Given the description of an element on the screen output the (x, y) to click on. 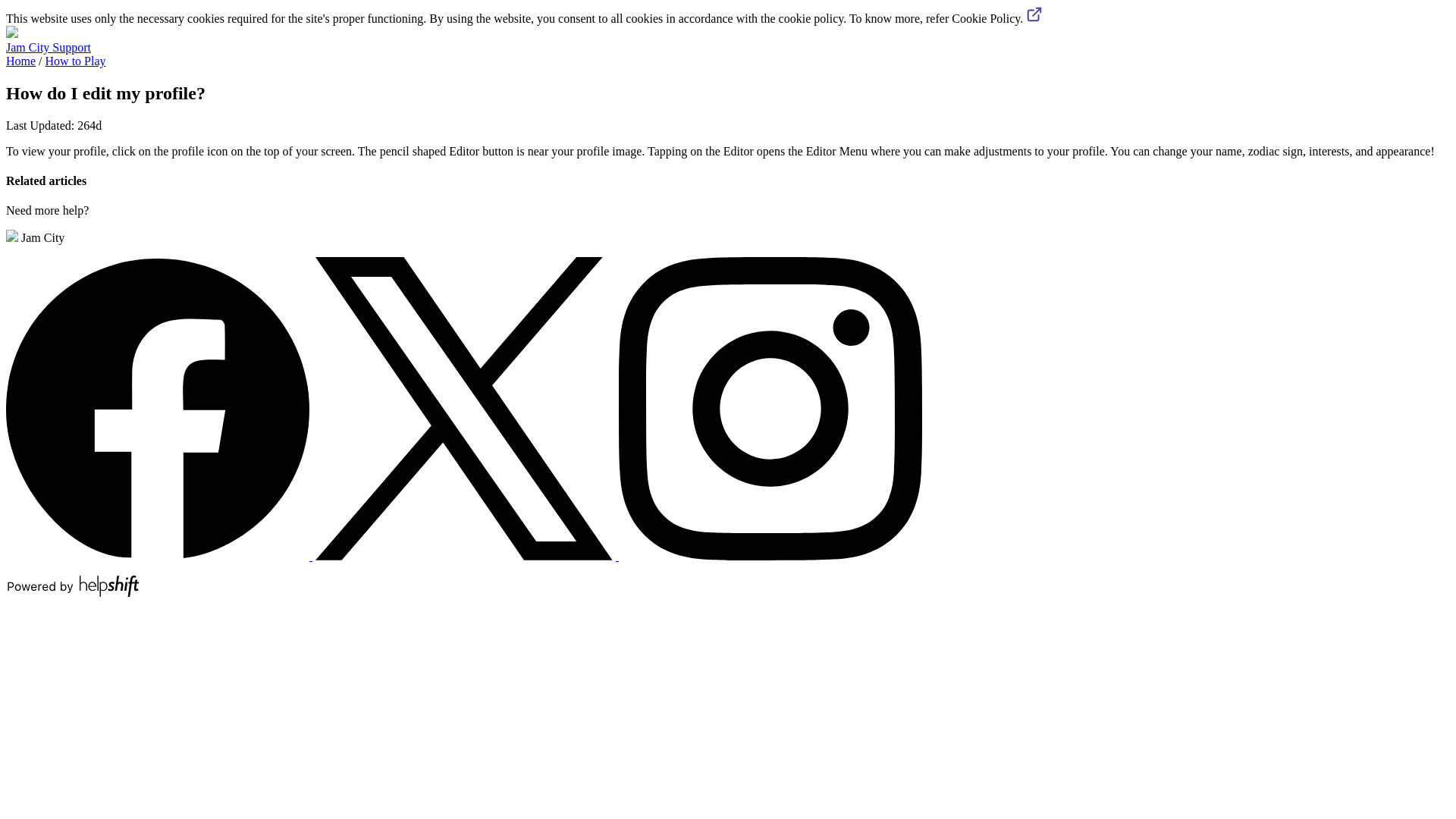
How to Play (75, 60)
Home (19, 60)
Jam City Support (47, 47)
Logo Instagram (769, 408)
Logo Facebook (156, 408)
Jam City (34, 237)
Logo Facebook (159, 555)
Logo Instagram (769, 555)
